Given the description of an element on the screen output the (x, y) to click on. 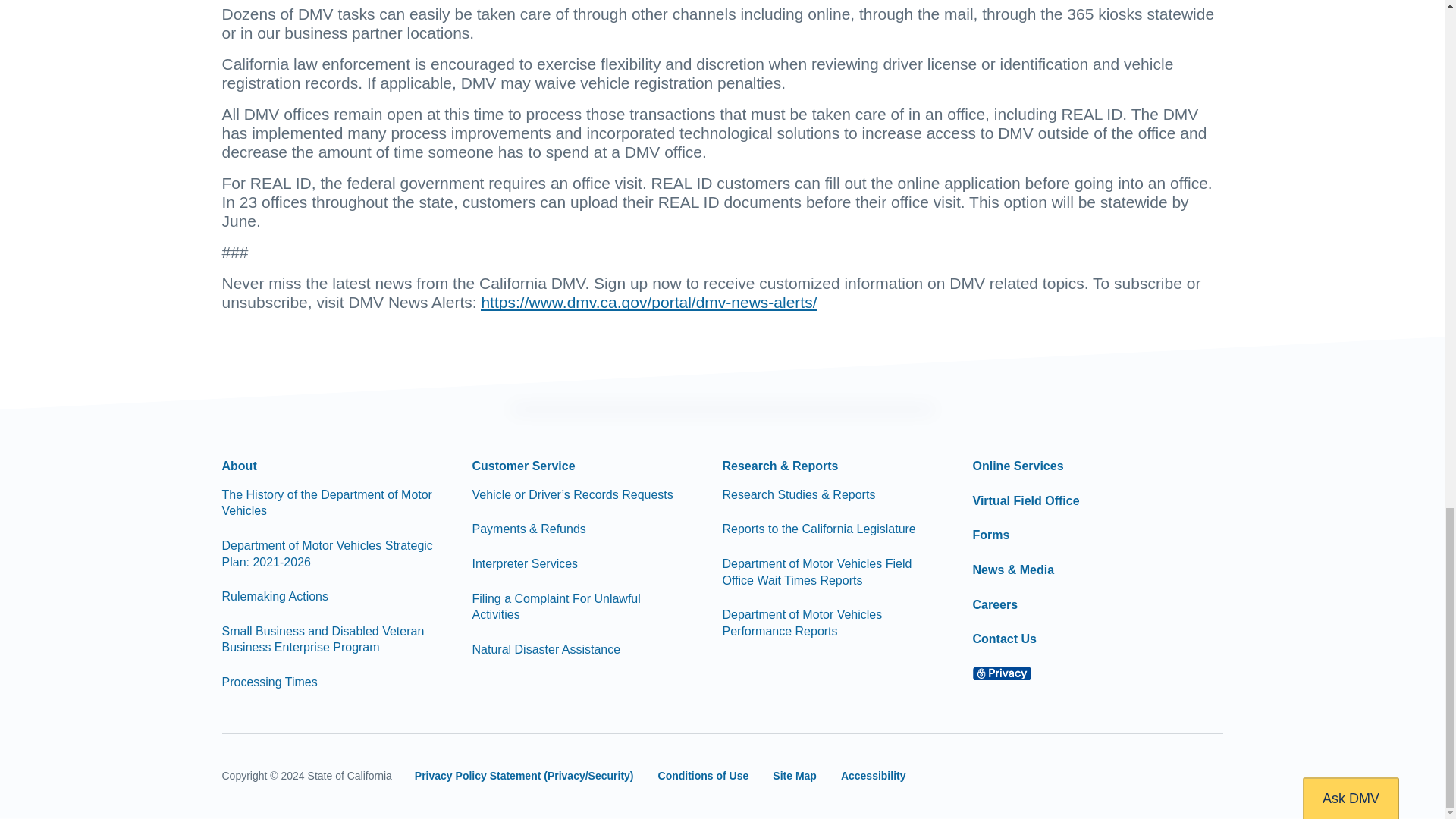
social-outline-linkedin icon (1207, 776)
social-outline-instagram icon (1152, 776)
social-outline-youtube icon (1098, 776)
social-outline-x icon (1042, 777)
social-outline-facebook icon (989, 776)
